Given the description of an element on the screen output the (x, y) to click on. 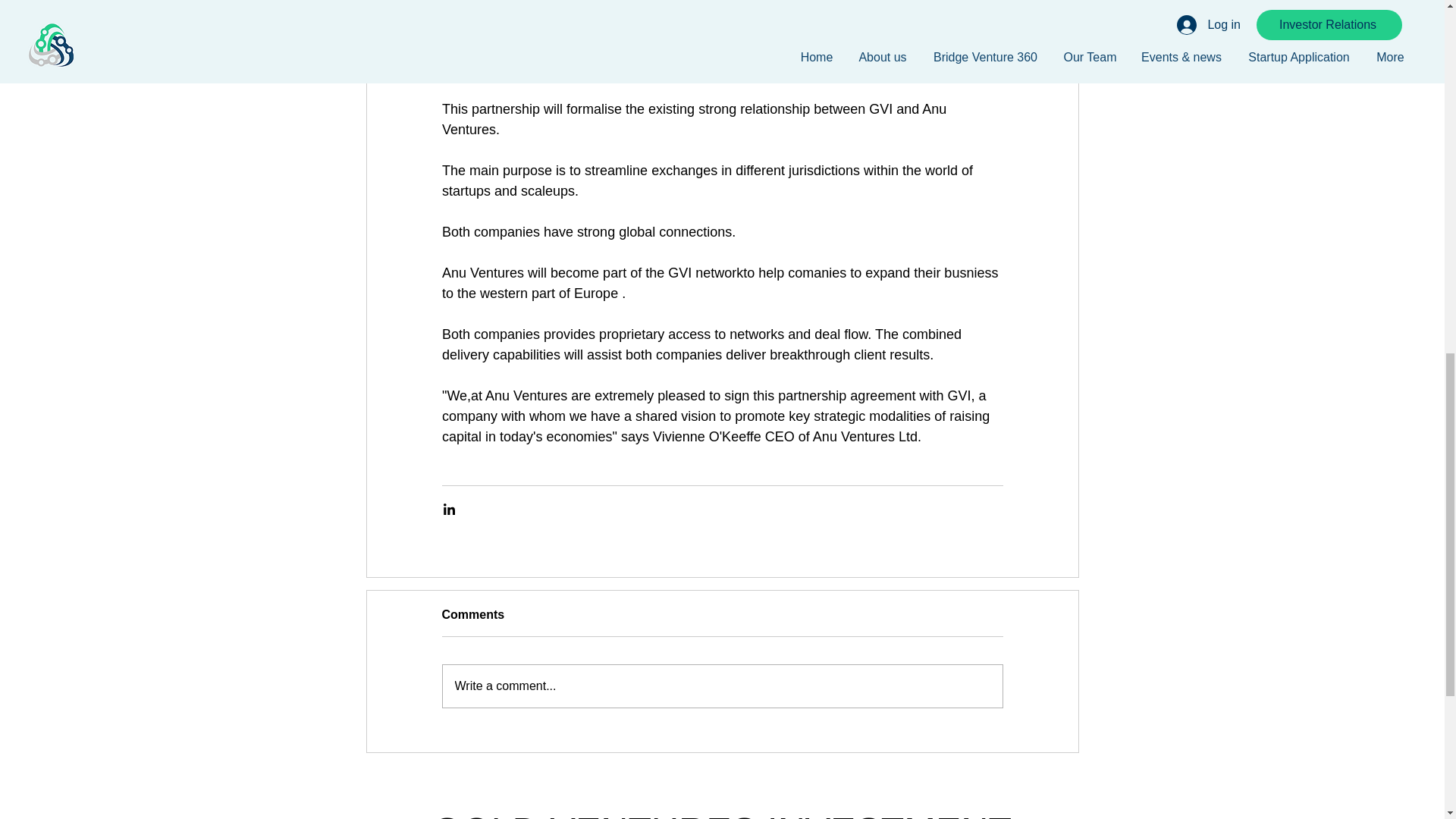
Write a comment... (722, 686)
